Given the description of an element on the screen output the (x, y) to click on. 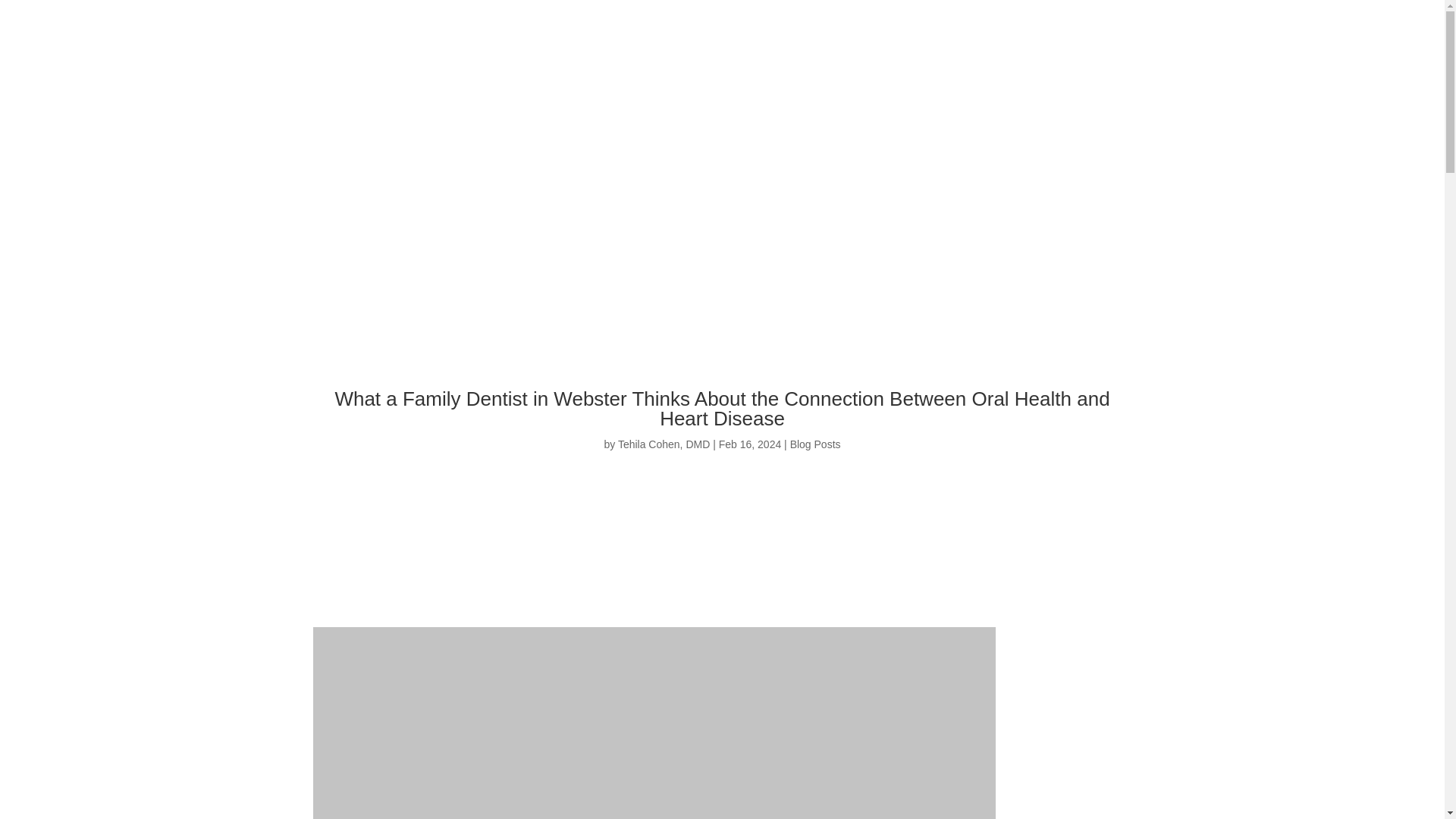
Blog Posts (815, 444)
Posts by Tehila Cohen, DMD (663, 444)
Tehila Cohen, DMD (663, 444)
